Given the description of an element on the screen output the (x, y) to click on. 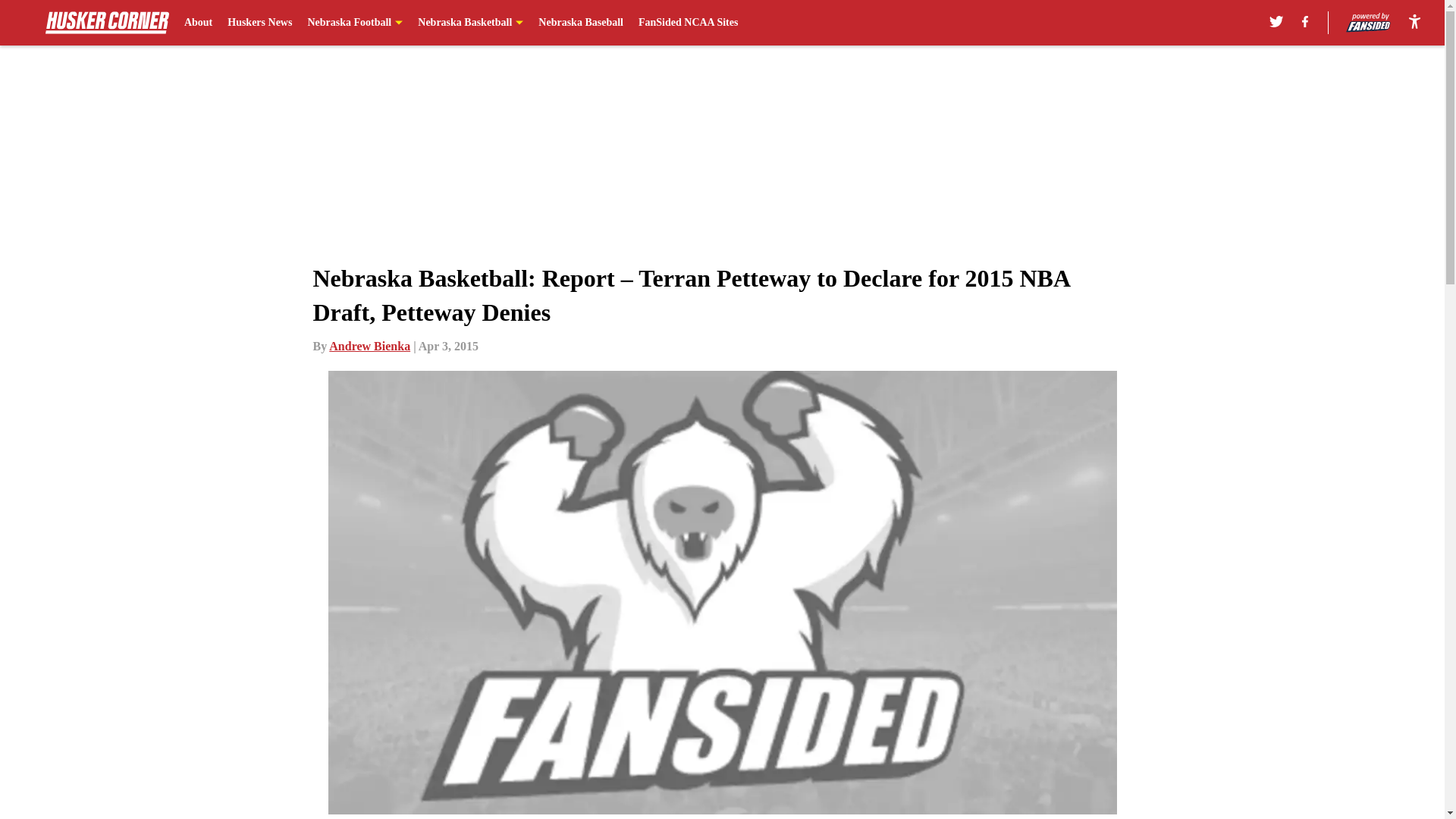
Nebraska Baseball (580, 22)
Andrew Bienka (369, 345)
About (198, 22)
FanSided NCAA Sites (688, 22)
Huskers News (259, 22)
